Given the description of an element on the screen output the (x, y) to click on. 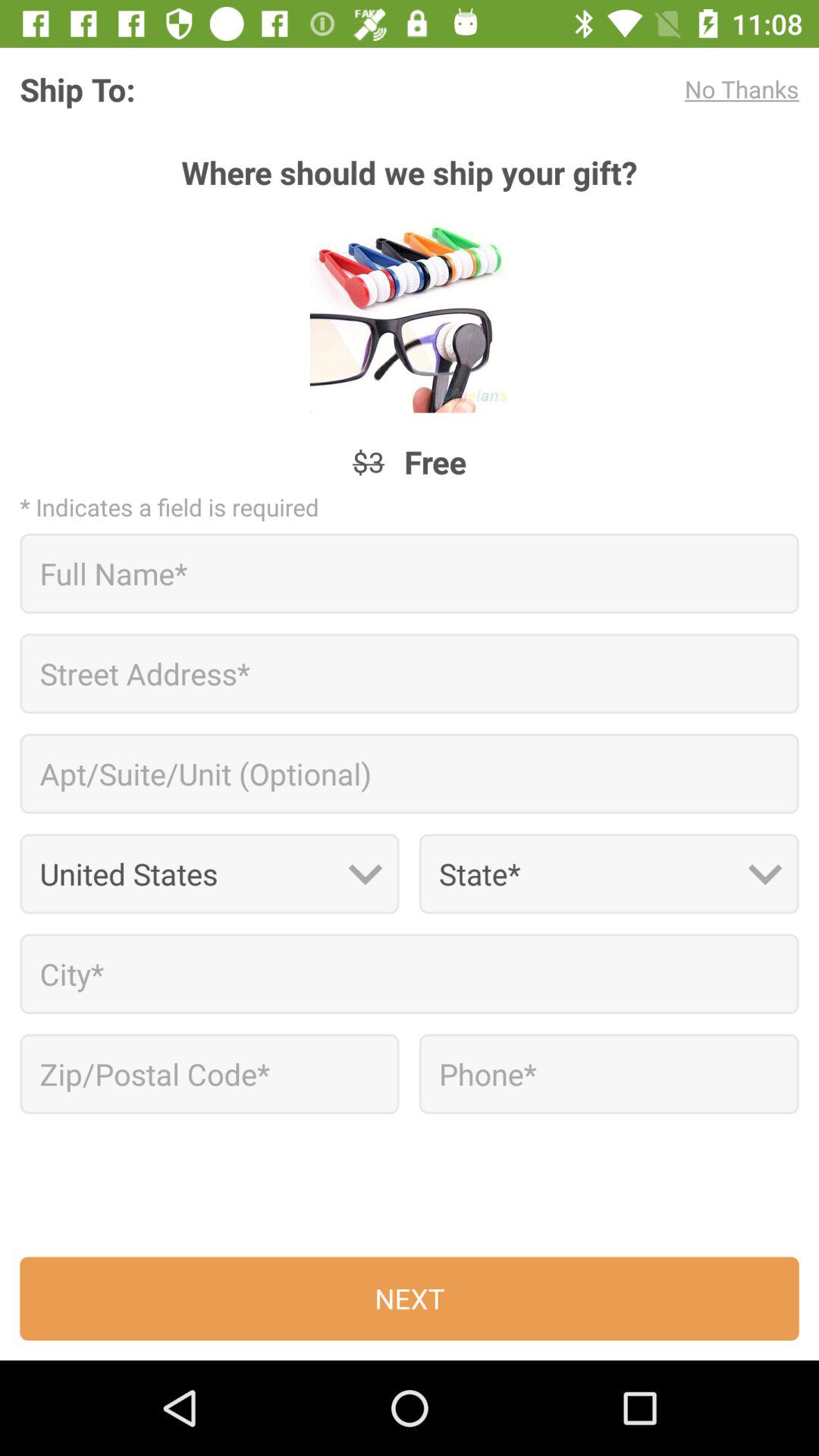
address (409, 673)
